Given the description of an element on the screen output the (x, y) to click on. 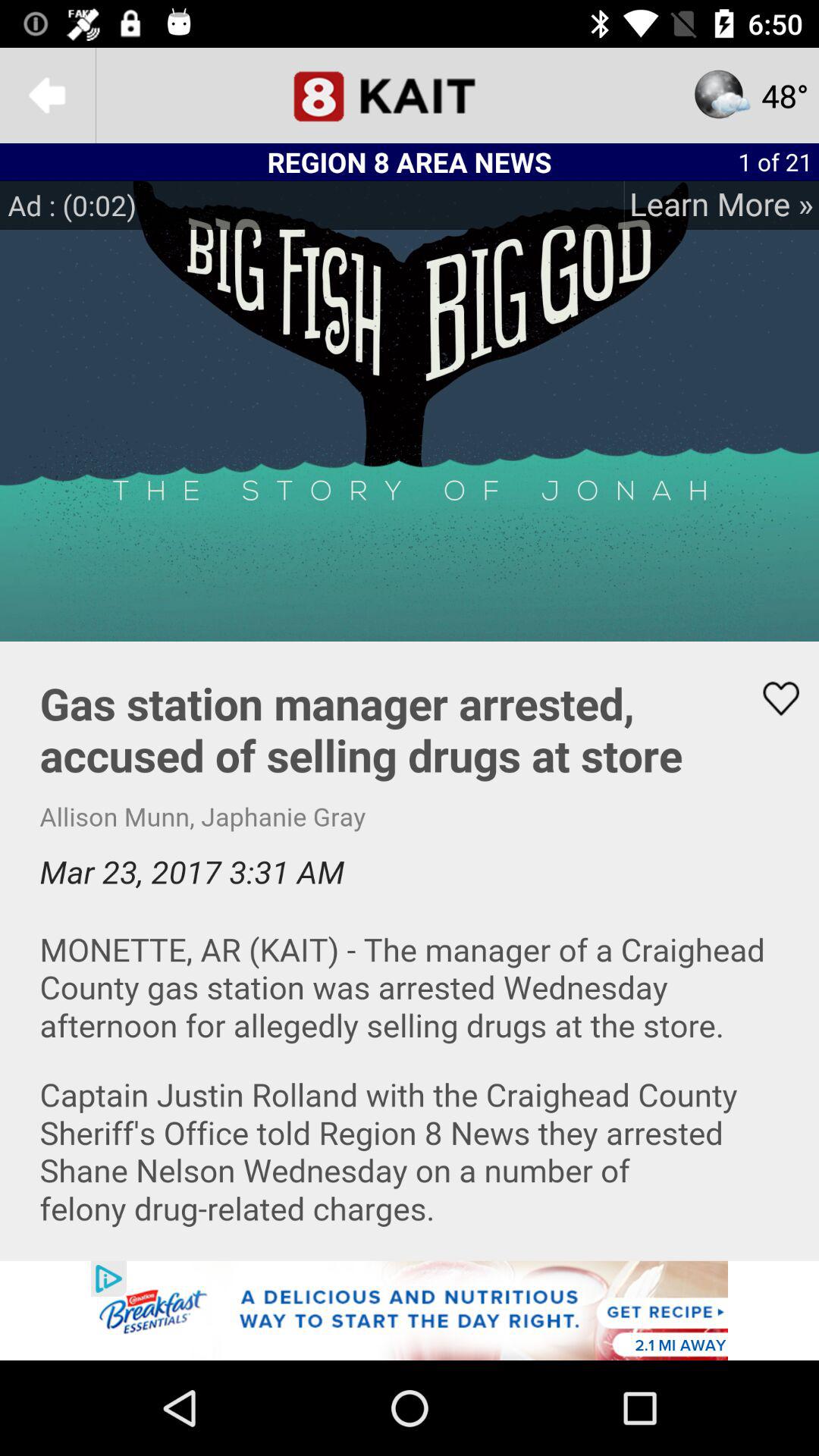
go back (47, 95)
